Given the description of an element on the screen output the (x, y) to click on. 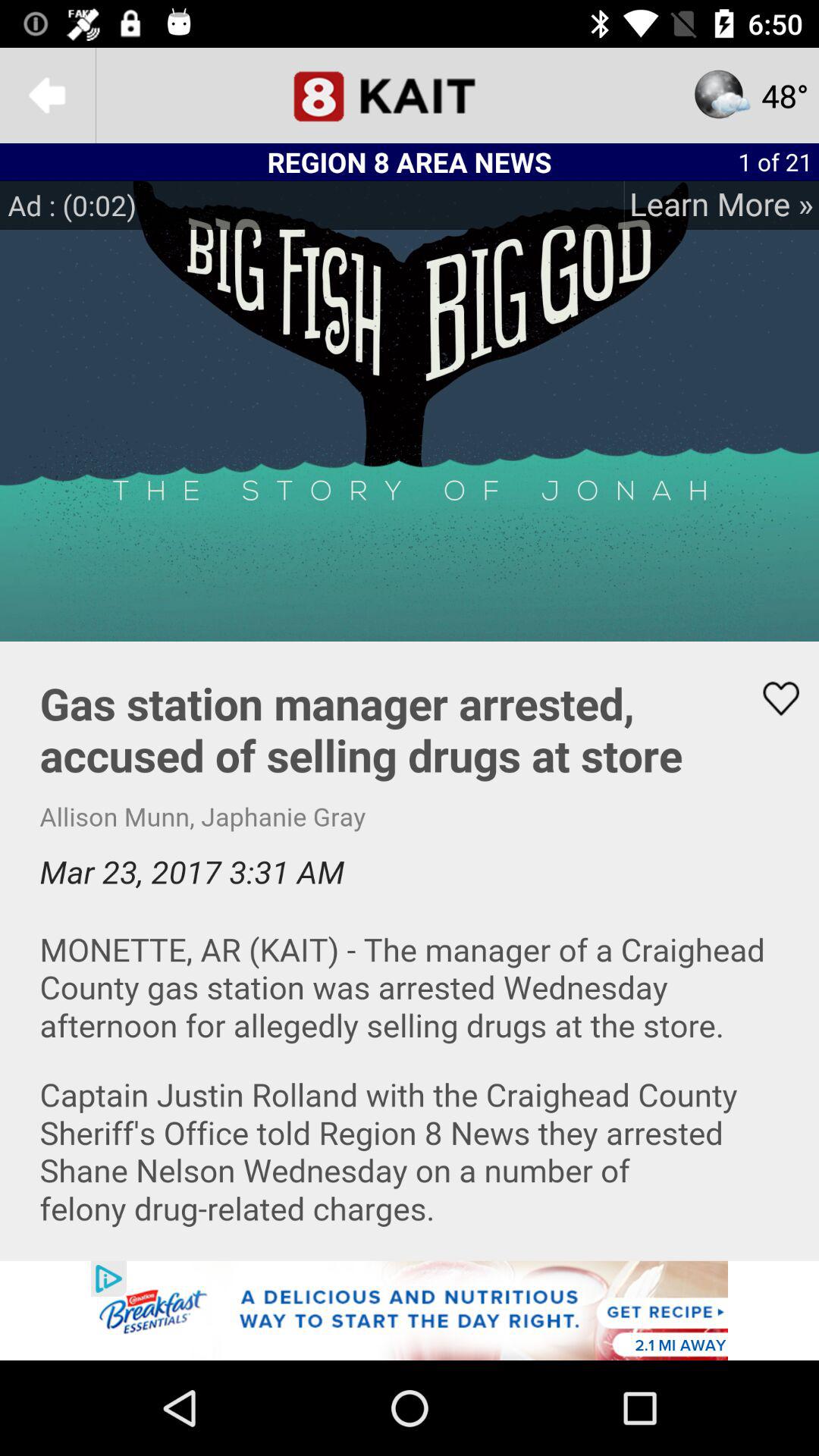
go back (47, 95)
